Given the description of an element on the screen output the (x, y) to click on. 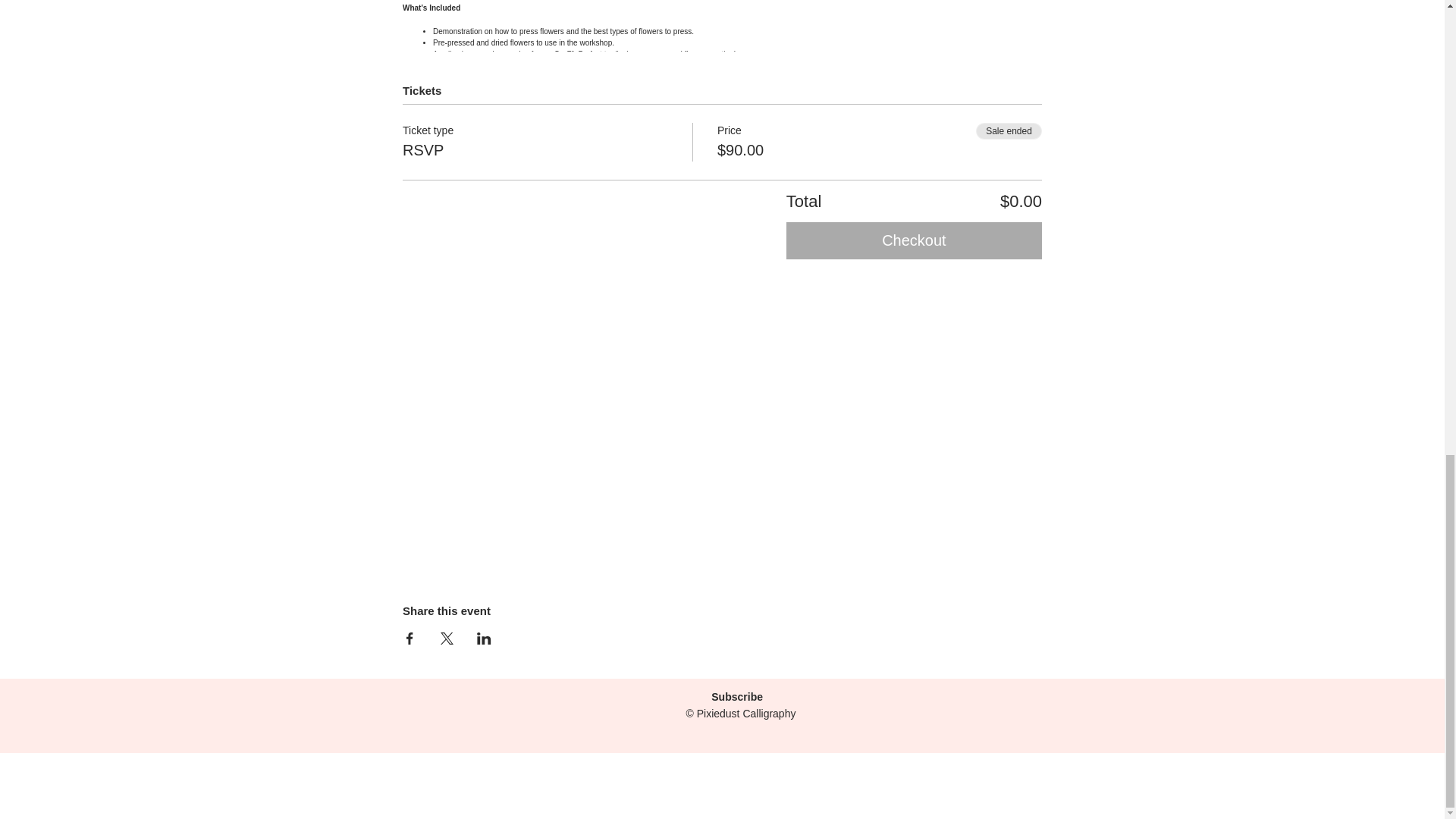
  Subscribe  (734, 696)
Checkout (914, 240)
